Given the description of an element on the screen output the (x, y) to click on. 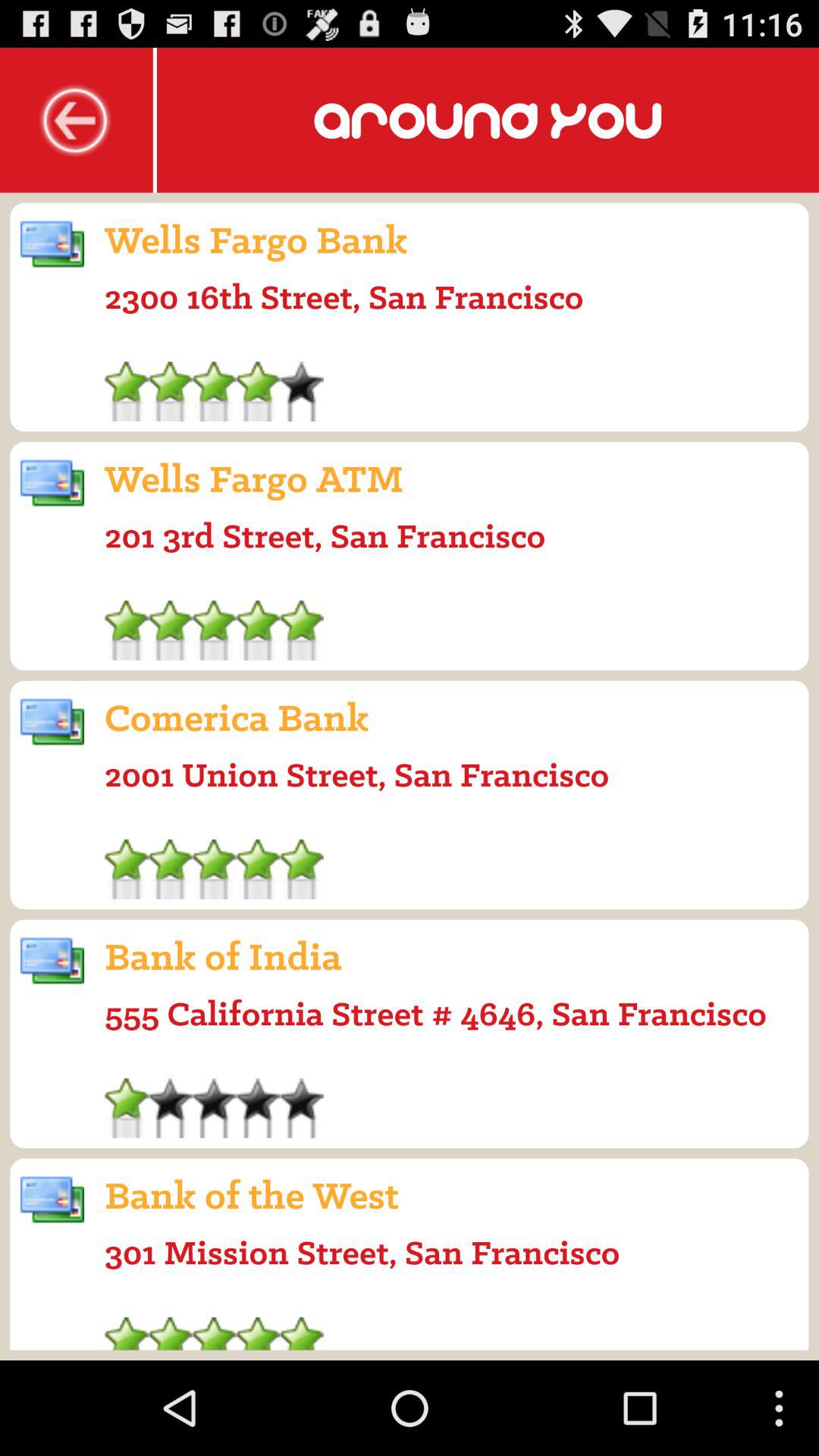
scroll until the 301 mission street icon (361, 1252)
